Given the description of an element on the screen output the (x, y) to click on. 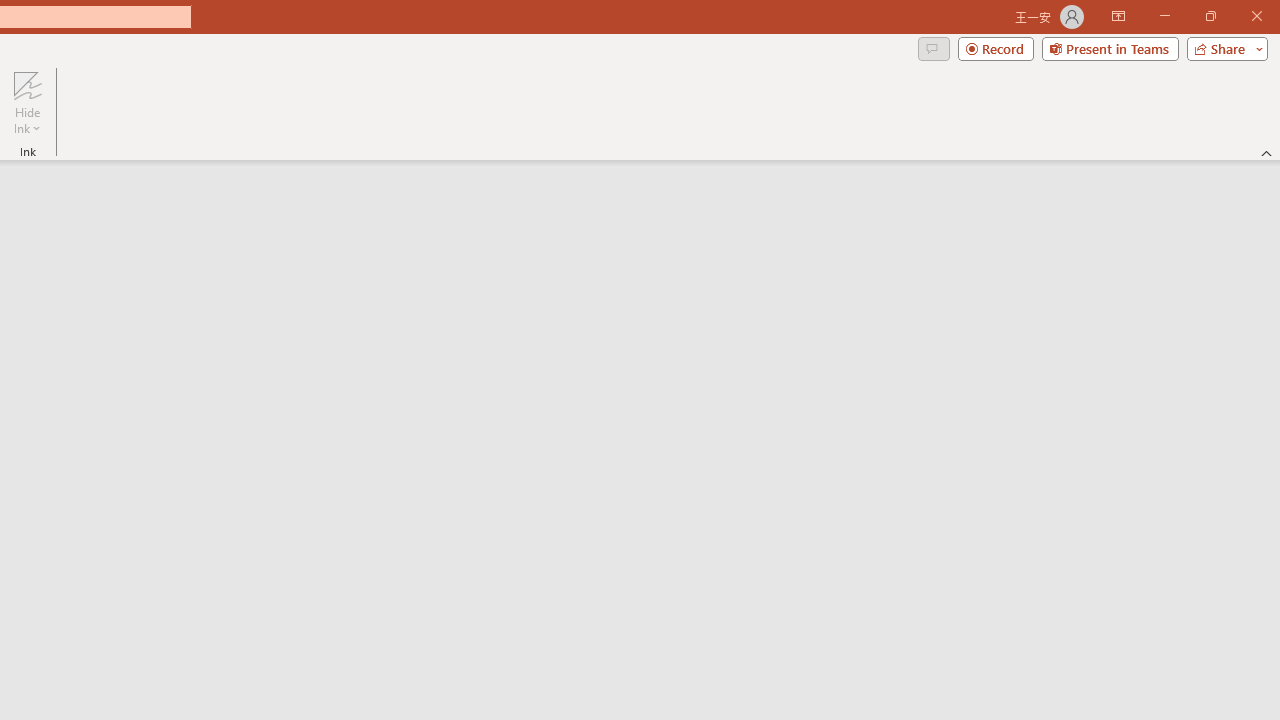
Close (1256, 16)
Record (995, 48)
Comments (933, 48)
Minimize (1164, 16)
Share (1223, 48)
More Options (27, 121)
Hide Ink (27, 102)
Hide Ink (27, 84)
Present in Teams (1109, 48)
Restore Down (1210, 16)
Ribbon Display Options (1118, 16)
Collapse the Ribbon (1267, 152)
